Given the description of an element on the screen output the (x, y) to click on. 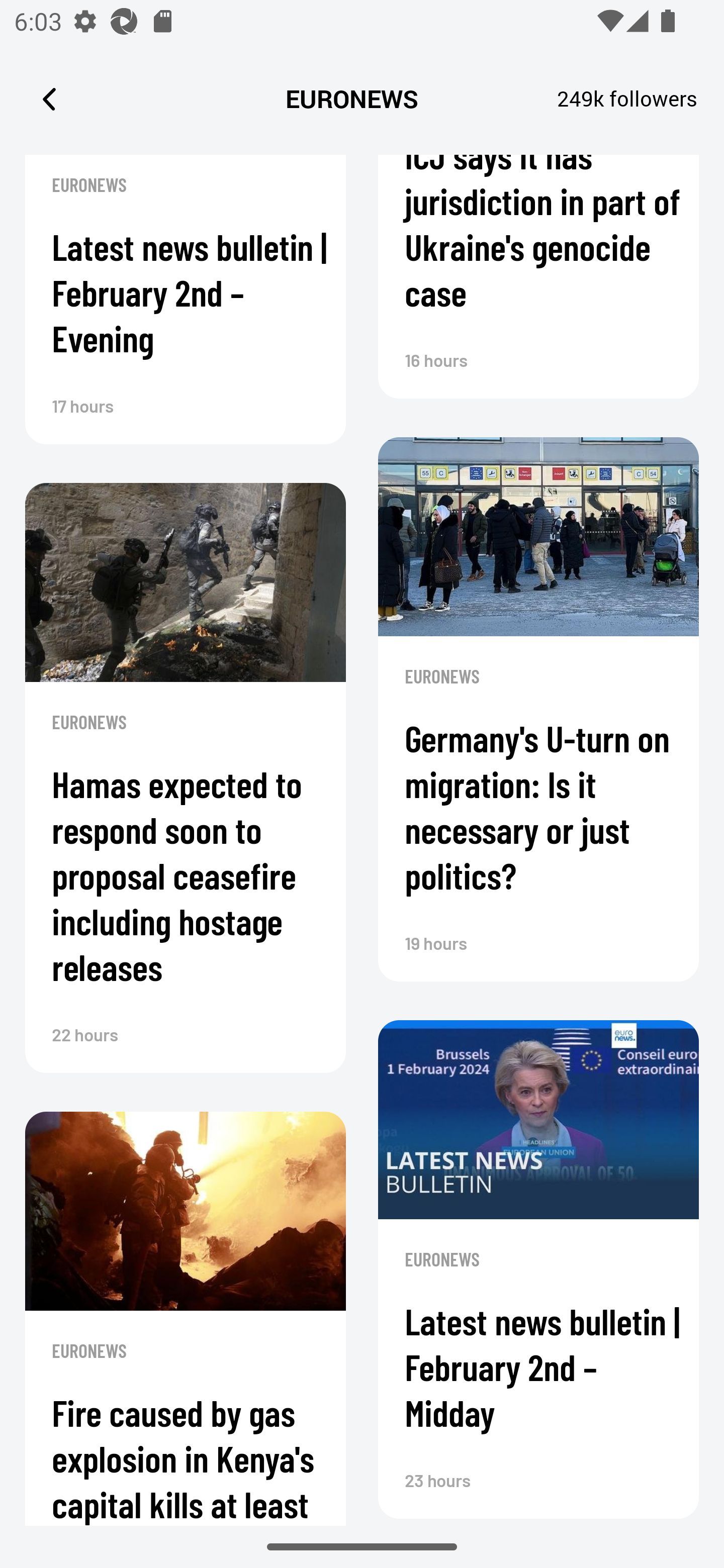
Leading Icon (49, 98)
